Given the description of an element on the screen output the (x, y) to click on. 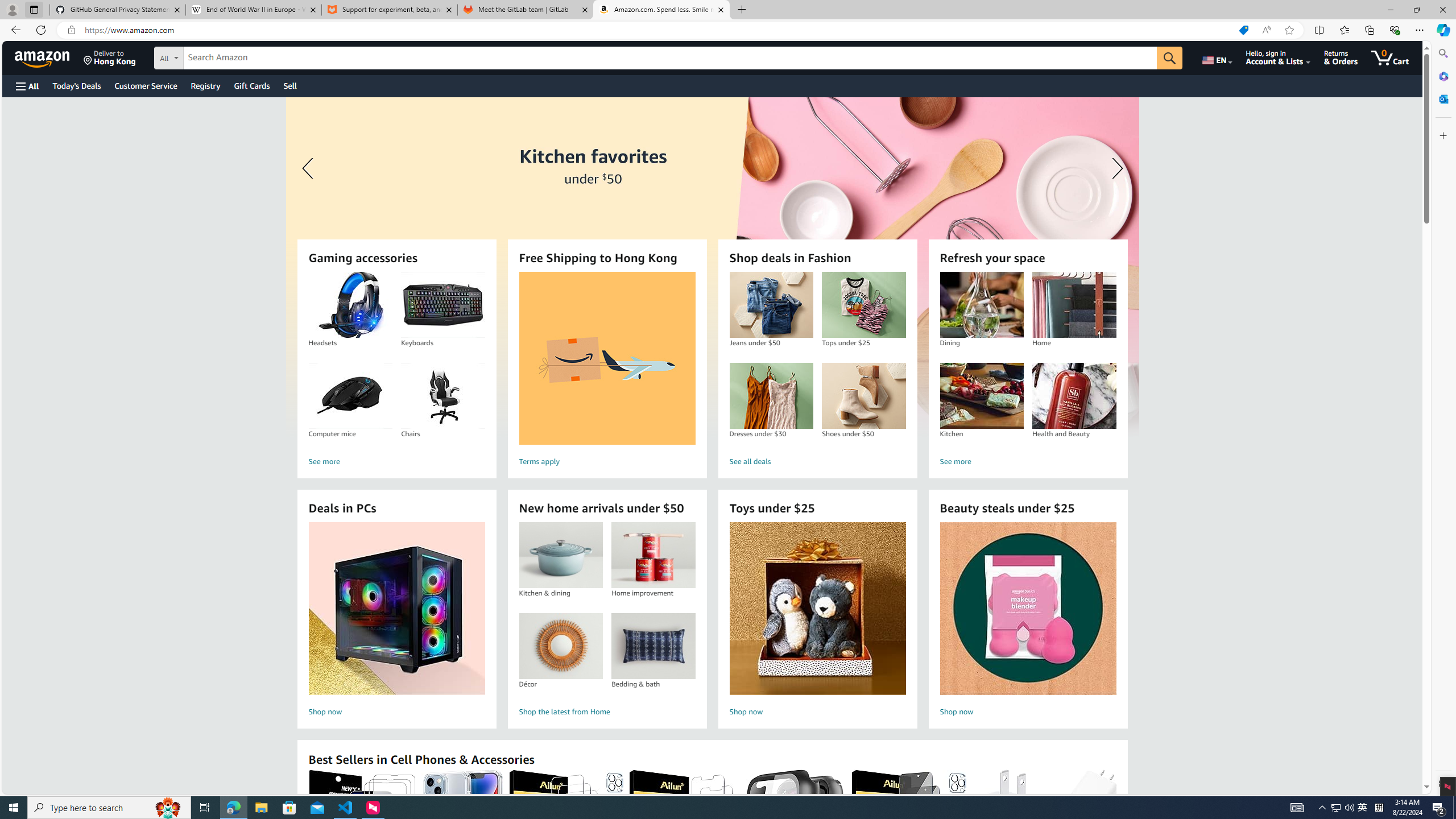
Home (1074, 304)
Bedding & bath (652, 645)
Toys under $25 Shop now (817, 620)
Microsoft 365 (1442, 76)
Sell (290, 85)
Go (1169, 57)
Class: a-carousel-card (711, 267)
Dining (981, 304)
Hello, sign in Account & Lists (1278, 57)
Shop the latest from Home (606, 712)
